Given the description of an element on the screen output the (x, y) to click on. 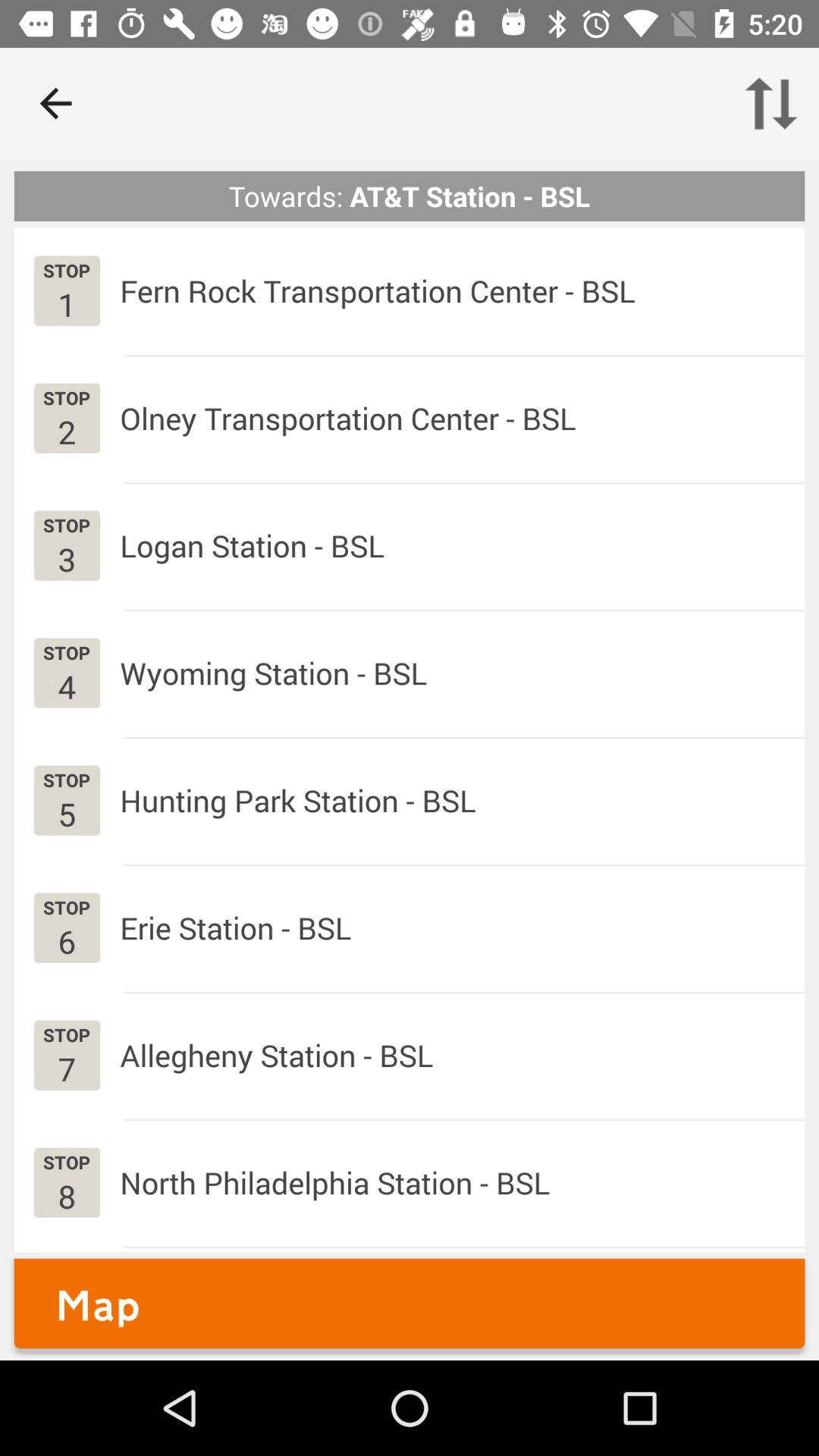
press the icon next to olney transportation center icon (66, 431)
